Given the description of an element on the screen output the (x, y) to click on. 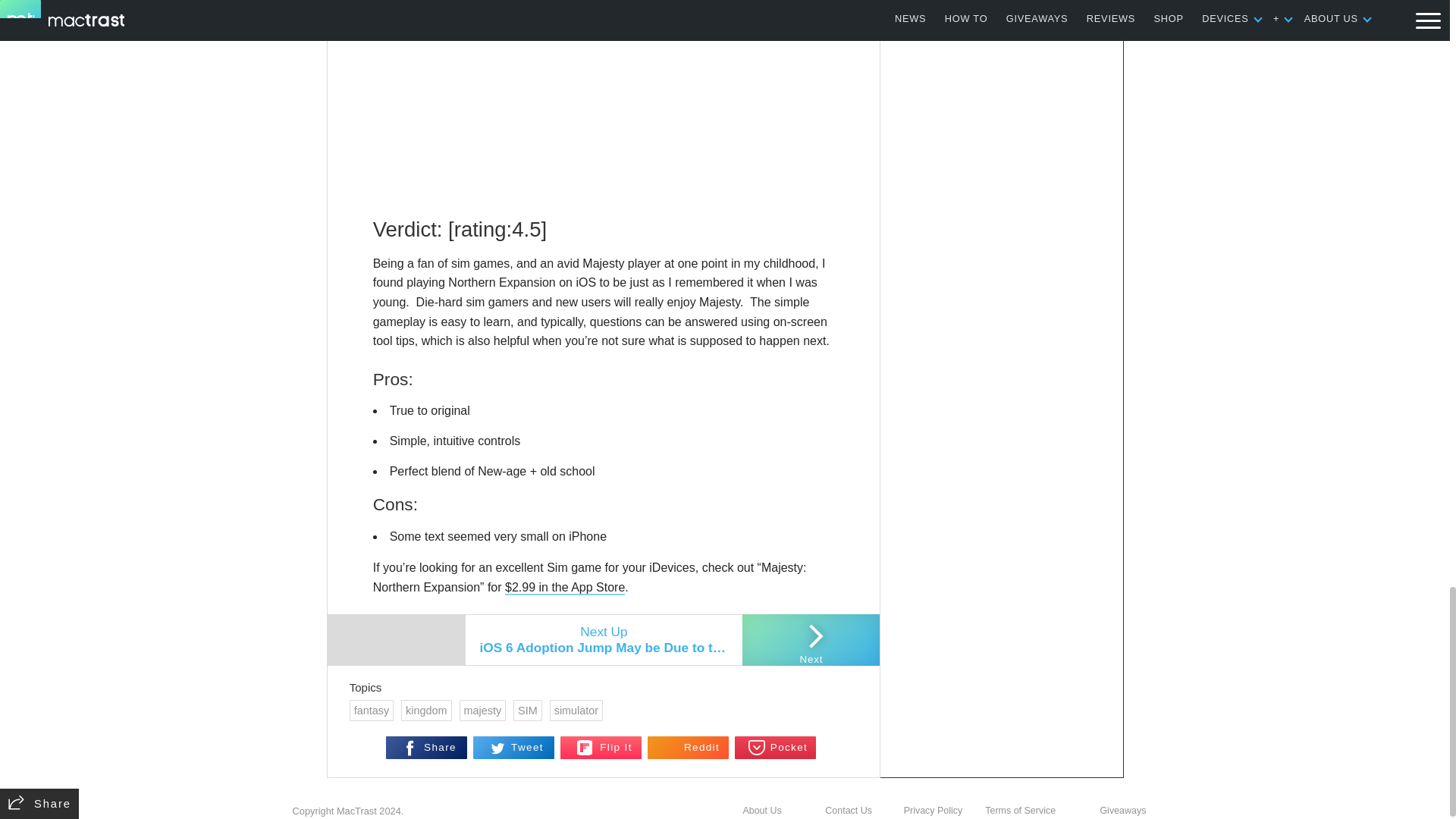
Share on Reddit (688, 444)
Tweet (513, 444)
Share on Facebook (426, 444)
Majesty Northern Expansion (564, 284)
